Given the description of an element on the screen output the (x, y) to click on. 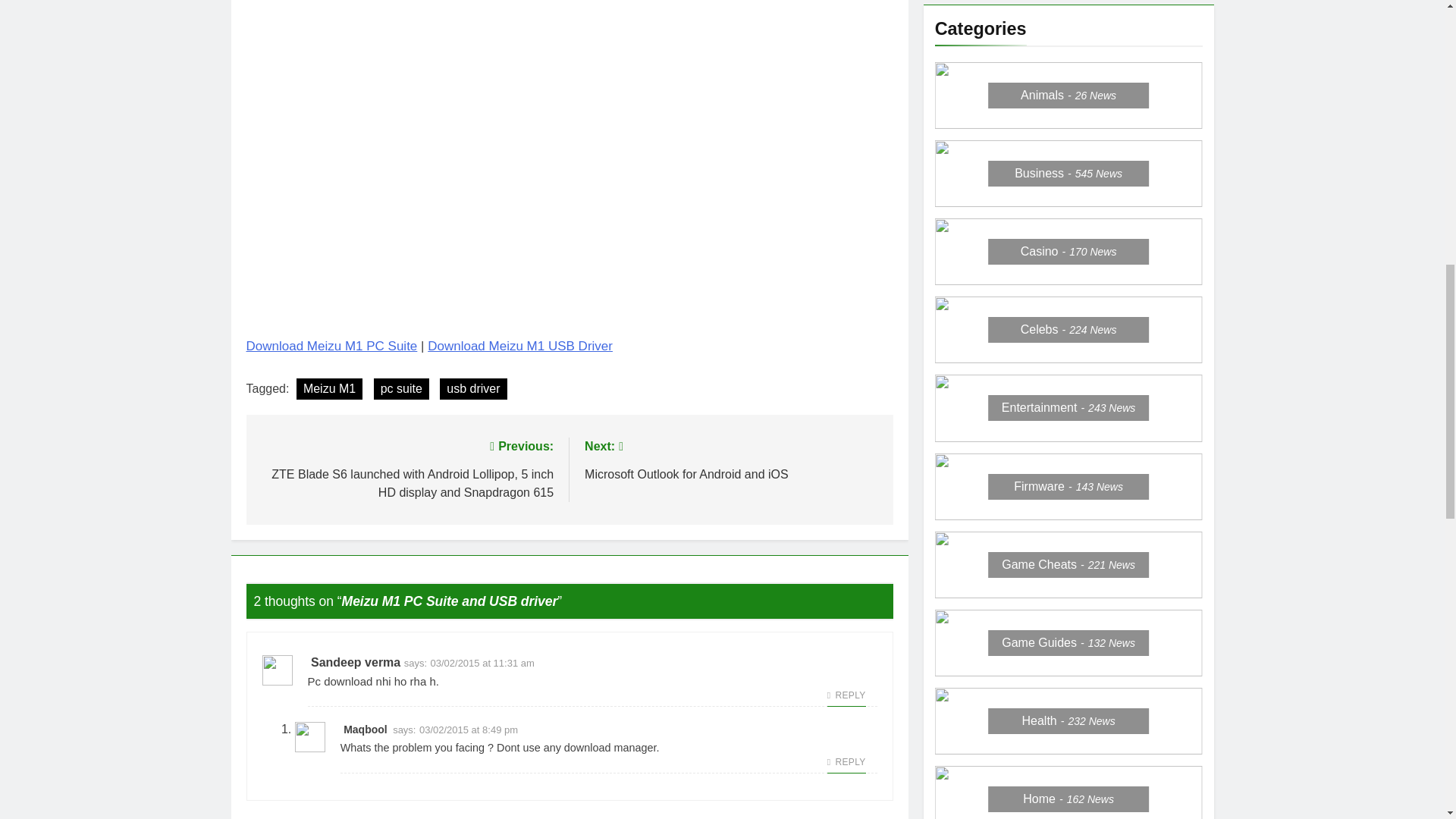
pc suite (401, 388)
Download Meizu M1 USB Driver (520, 345)
usb driver (472, 388)
Meizu M1 (731, 458)
Download Meizu M1 PC Suite (329, 388)
